Given the description of an element on the screen output the (x, y) to click on. 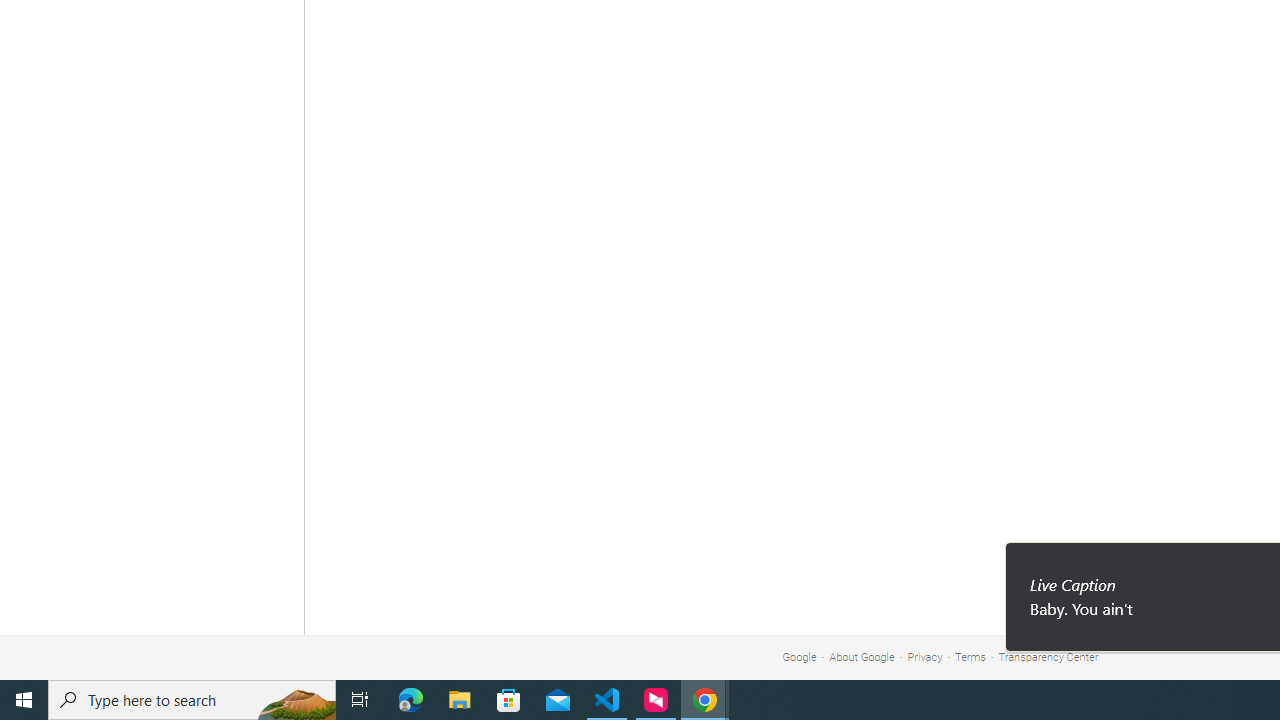
Transparency Center (1048, 656)
About Google (861, 656)
